Given the description of an element on the screen output the (x, y) to click on. 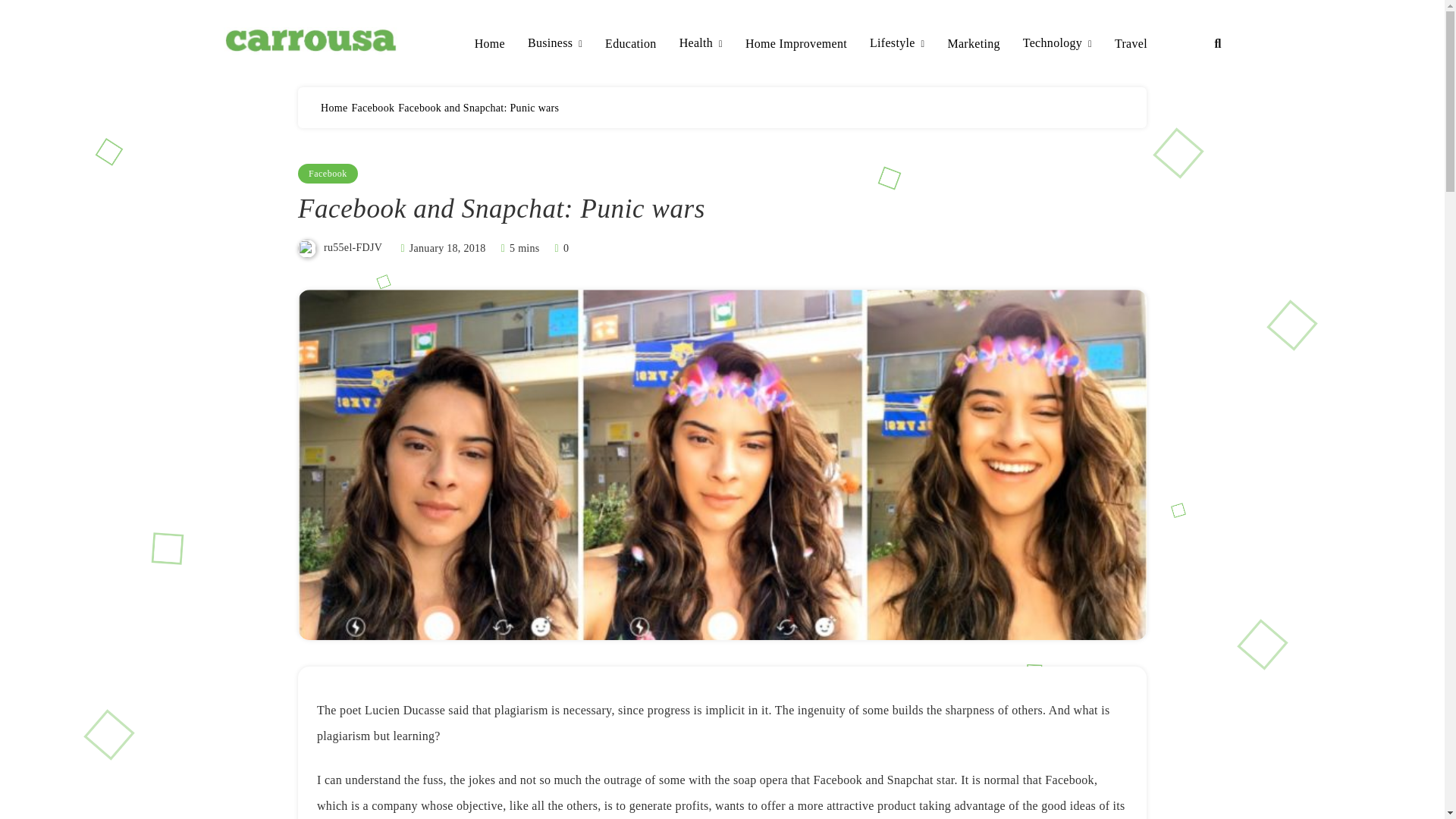
January 18, 2018 (447, 247)
Education (630, 44)
Home (489, 44)
Technology (1057, 43)
CARROUSSA (307, 76)
Facebook (372, 107)
Lifestyle (896, 43)
Marketing (972, 44)
Home (333, 107)
Health (700, 43)
0 (560, 247)
Travel (1131, 44)
Home Improvement (796, 44)
ru55el-FDJV (352, 247)
Facebook (328, 173)
